Given the description of an element on the screen output the (x, y) to click on. 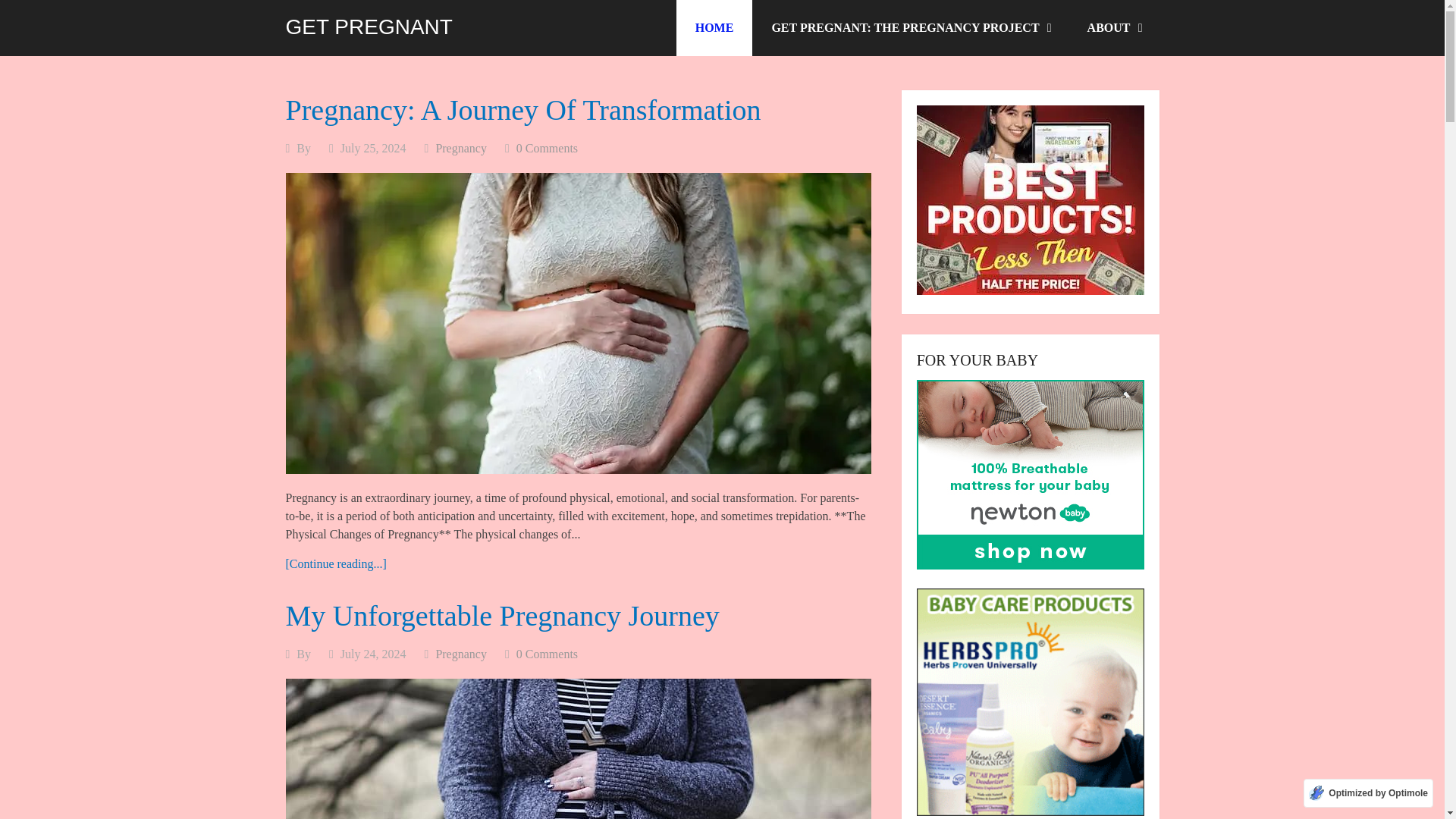
0 Comments (547, 147)
GET PREGNANT: THE PREGNANCY PROJECT (909, 28)
My Unforgettable Pregnancy Journey (577, 748)
ABOUT (1113, 28)
Pregnancy (460, 147)
GET PREGNANT (368, 26)
Pregnancy: A Journey Of Transformation (522, 110)
My Unforgettable Pregnancy Journey (502, 615)
0 Comments (547, 653)
HOME (714, 28)
My Unforgettable Pregnancy Journey (502, 615)
Pregnancy: A Journey Of Transformation (522, 110)
Pregnancy: A Journey Of Transformation (335, 563)
Pregnancy (460, 653)
